Given the description of an element on the screen output the (x, y) to click on. 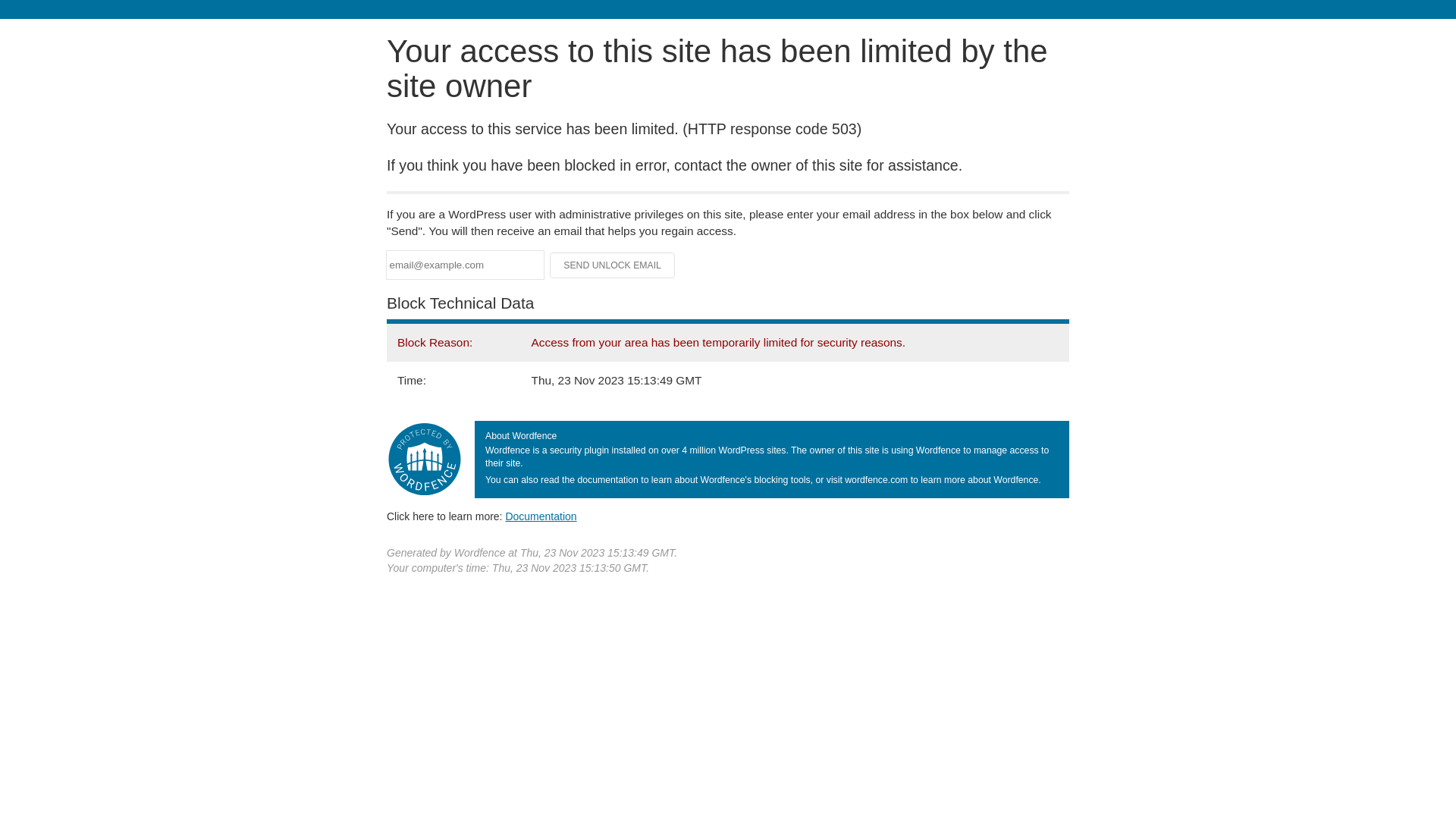
Documentation Element type: text (540, 516)
Send Unlock Email Element type: text (612, 265)
